Given the description of an element on the screen output the (x, y) to click on. 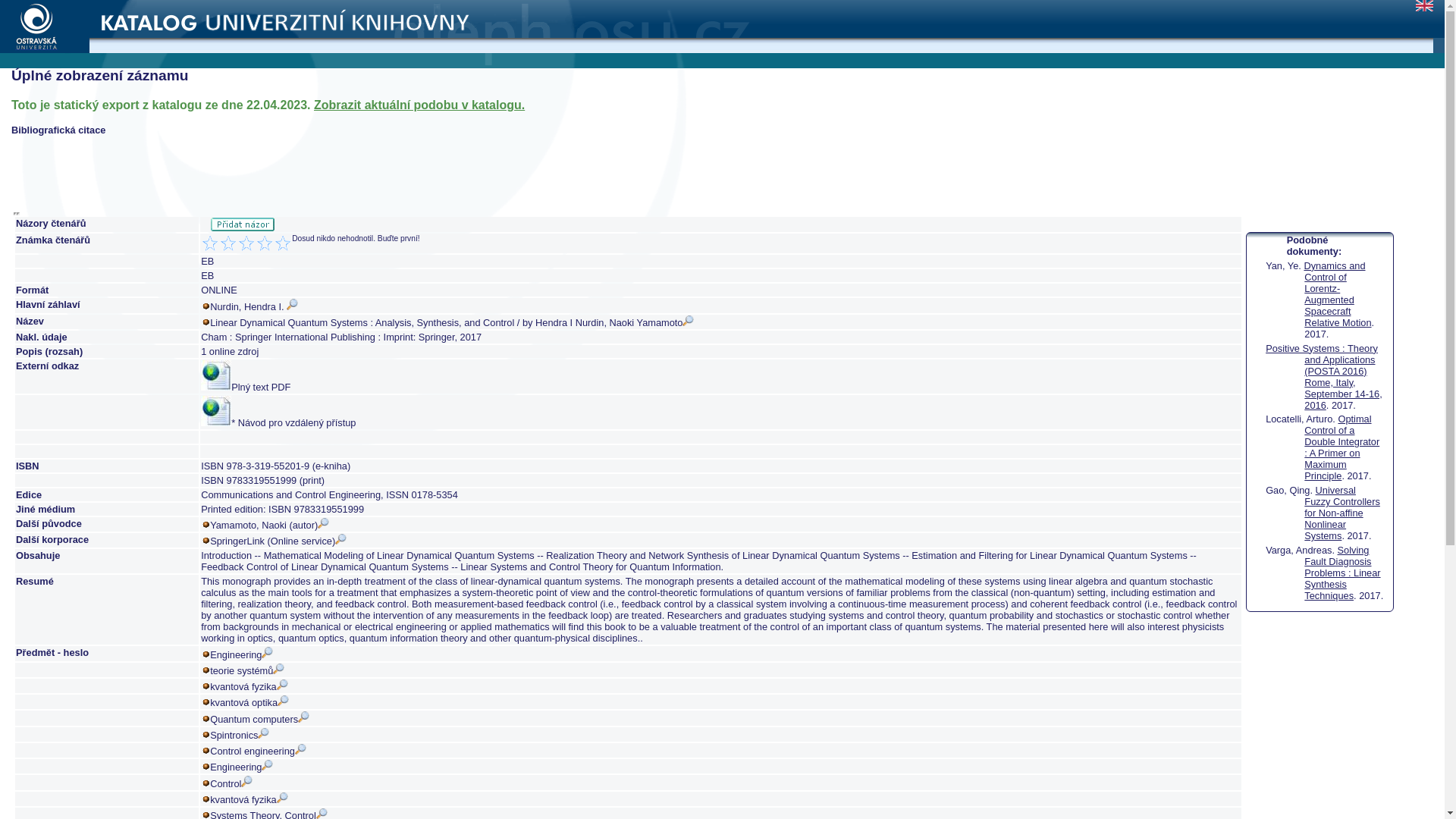
Engineering (241, 654)
Engineering (241, 767)
Control engineering (257, 750)
Nurdin, Hendra I.  (253, 306)
Quantum computers (258, 718)
Control (230, 783)
